Given the description of an element on the screen output the (x, y) to click on. 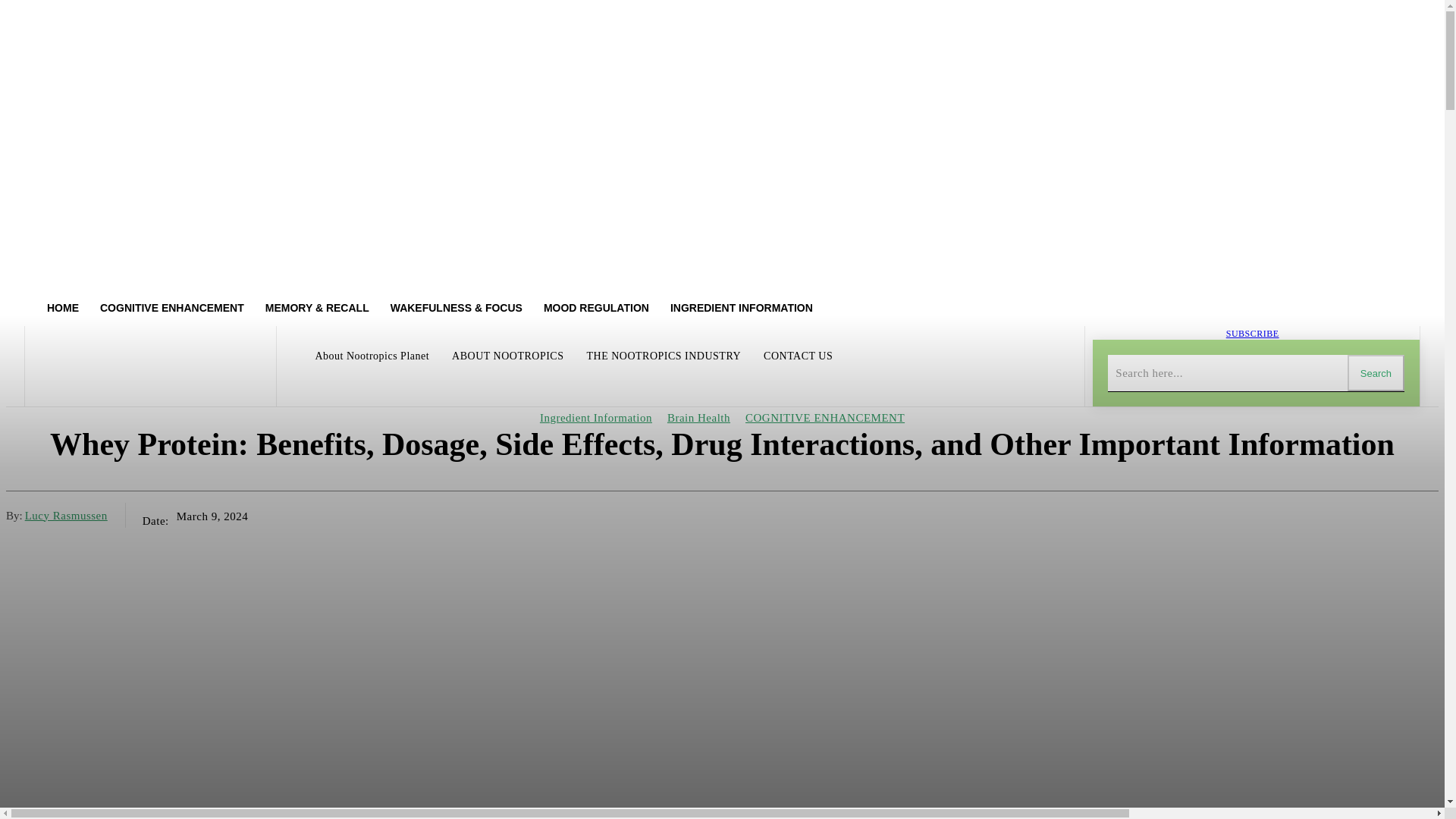
Search (1376, 372)
THE NOOTROPICS INDUSTRY (663, 355)
INGREDIENT INFORMATION (741, 307)
MOOD REGULATION (595, 307)
COGNITIVE ENHANCEMENT (171, 307)
SUBSCRIBE (1252, 333)
Lucy Rasmussen (65, 514)
Search (1376, 372)
CONTACT US (797, 355)
ABOUT NOOTROPICS (507, 355)
About Nootropics Planet (371, 355)
HOME (62, 307)
Brain Health (698, 418)
COGNITIVE ENHANCEMENT (824, 418)
Subscribe (1252, 333)
